Given the description of an element on the screen output the (x, y) to click on. 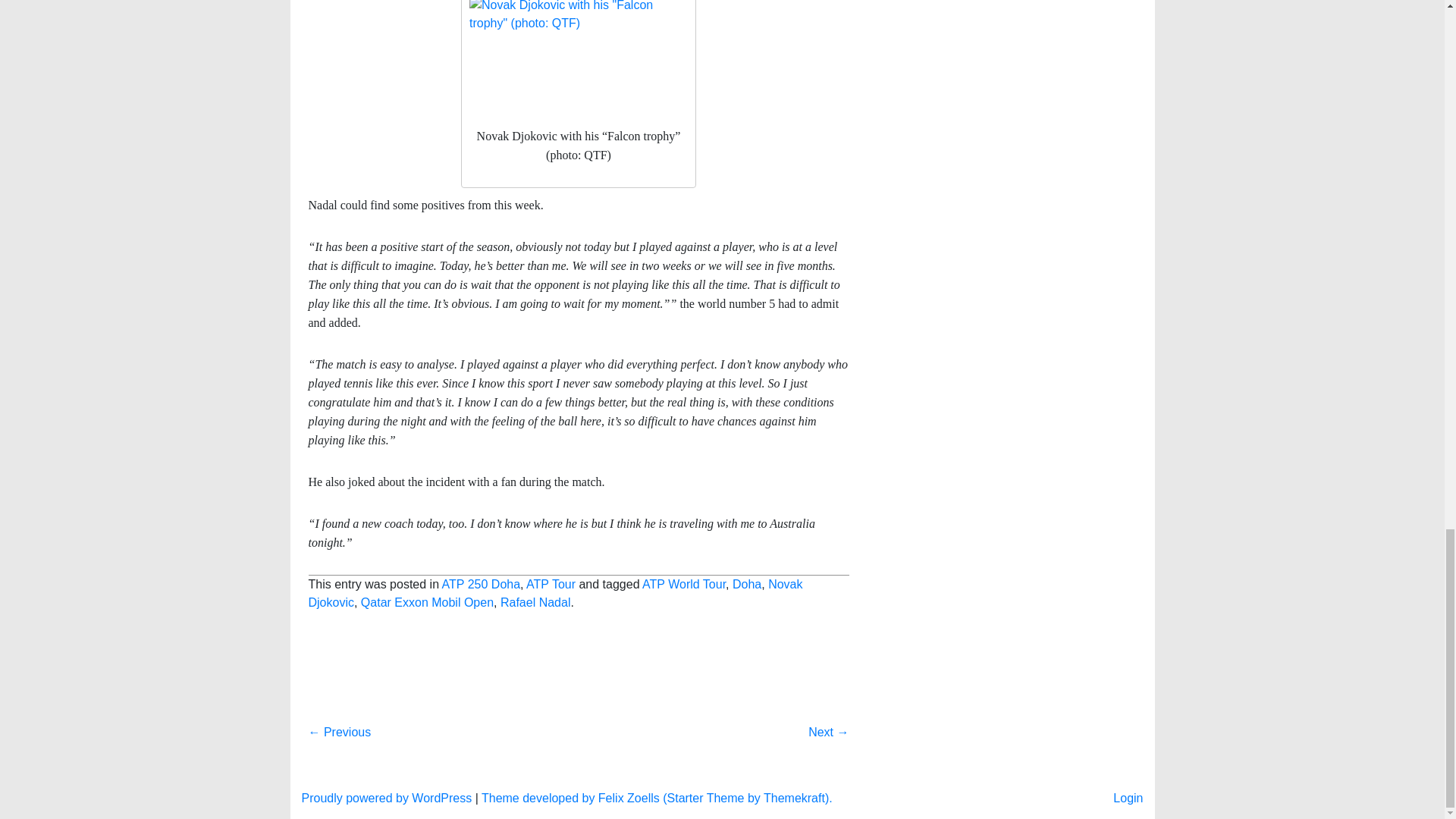
Novak Djokovic (554, 746)
ATP Tour (550, 737)
Rafael Nadal (535, 755)
ATP 250 Doha (480, 737)
ATP World Tour (683, 737)
Doha (746, 737)
Qatar Exxon Mobil Open (427, 755)
